Given the description of an element on the screen output the (x, y) to click on. 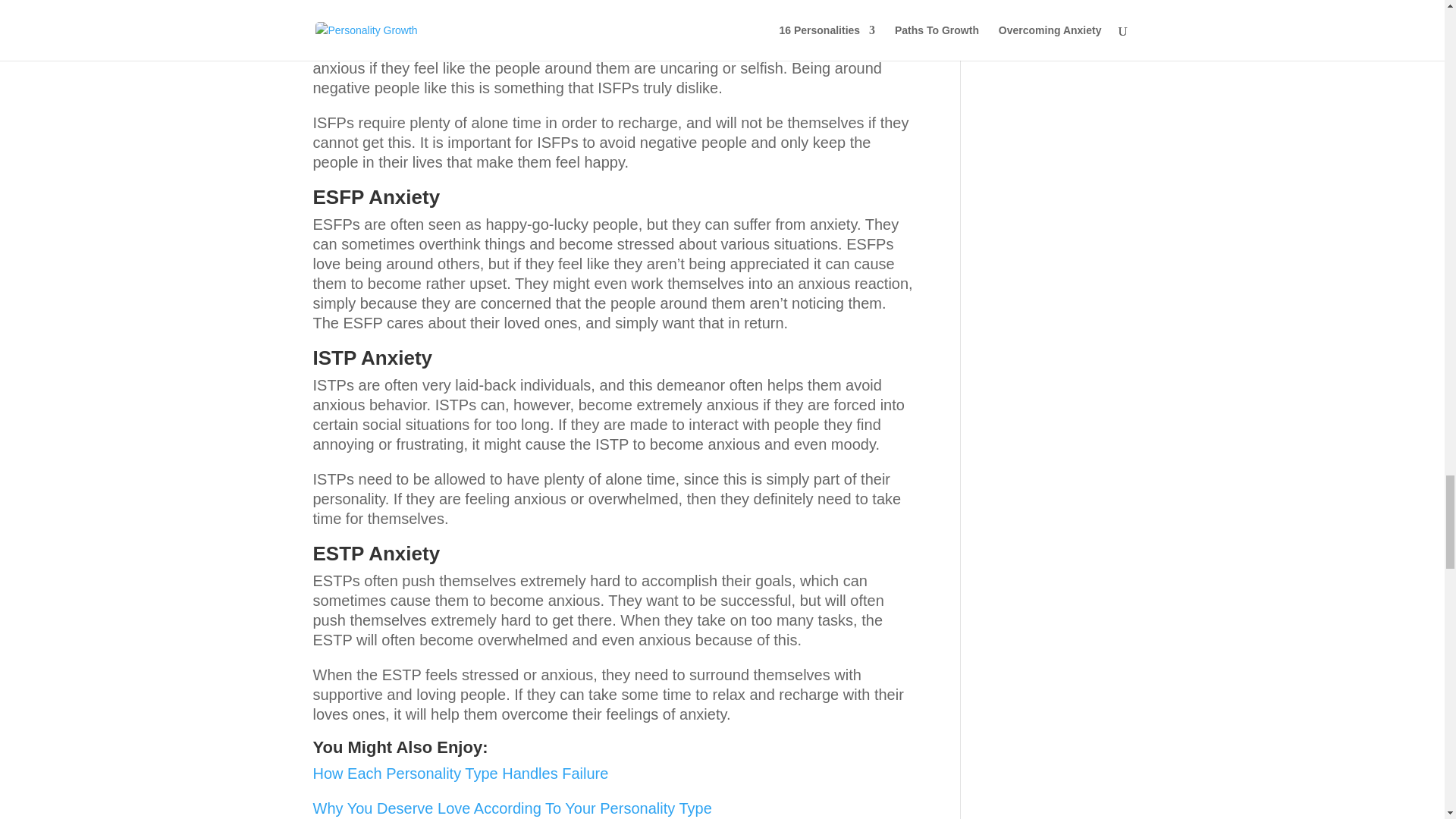
How Each Personality Type Handles Failure (460, 773)
Why You Deserve Love According To Your Personality Type (512, 808)
